Given the description of an element on the screen output the (x, y) to click on. 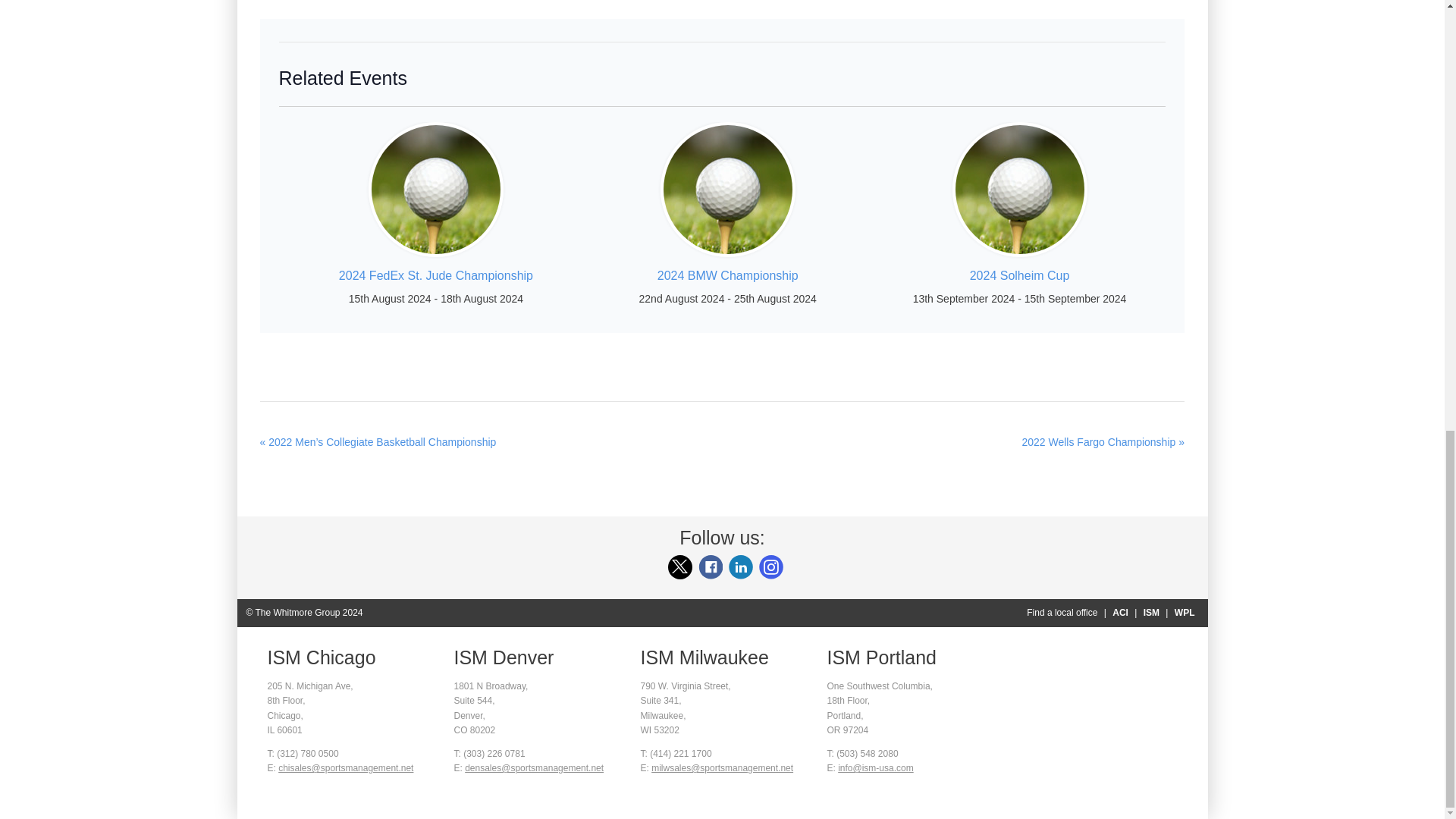
Facebook (709, 567)
LinkedIn (740, 567)
Twitter (678, 567)
Instagram (770, 567)
2024 FedEx St. Jude Championship (435, 275)
2024 BMW Championship (727, 275)
